Given the description of an element on the screen output the (x, y) to click on. 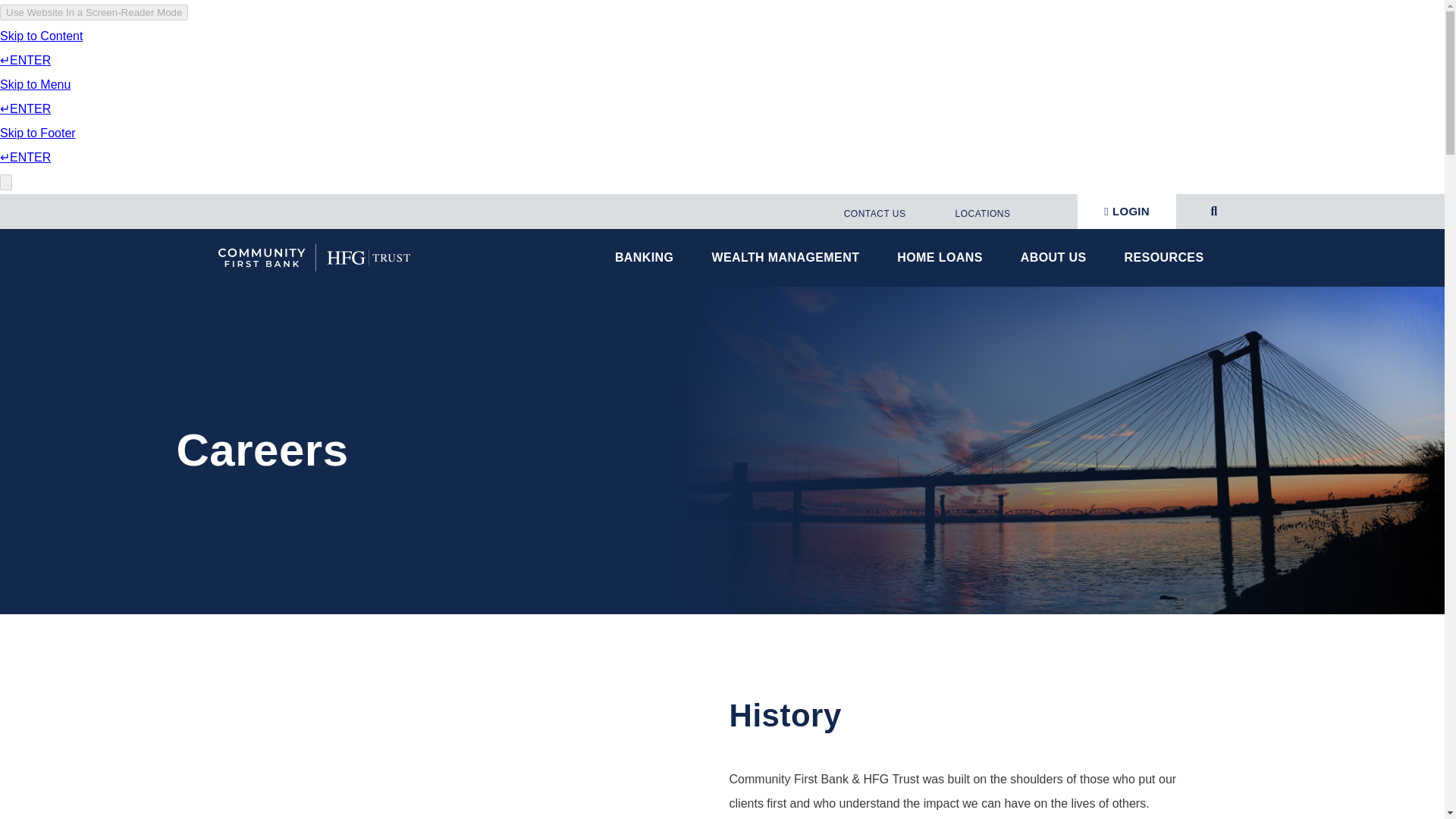
WEALTH MANAGEMENT (788, 257)
LOGIN (1126, 211)
HOME LOANS (943, 257)
RESOURCES (1168, 257)
LOCATIONS (981, 213)
ABOUT US (1057, 257)
BANKING (647, 257)
YouTube video player (458, 756)
CONTACT US (872, 213)
